Given the description of an element on the screen output the (x, y) to click on. 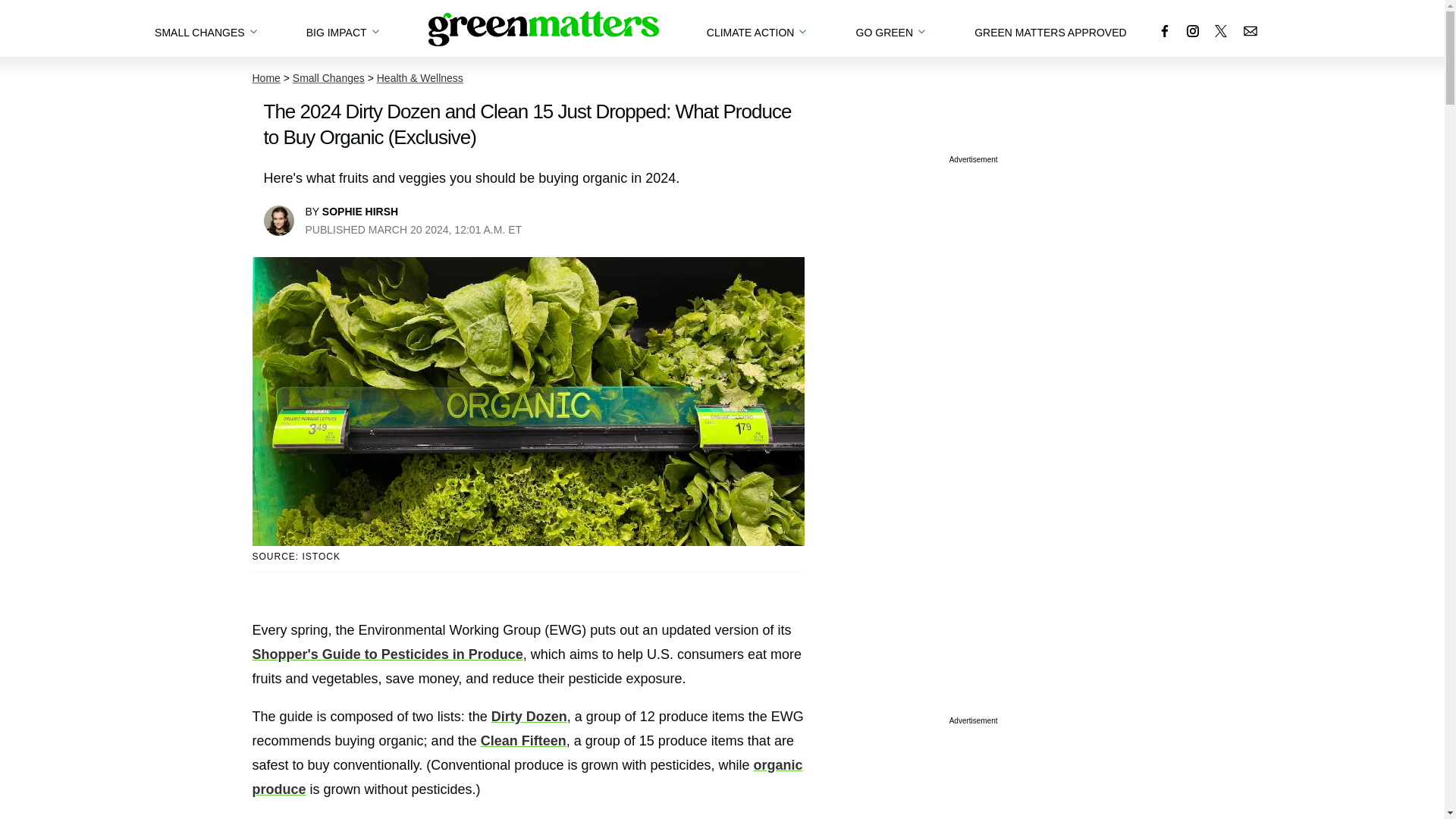
LINK TO X (1220, 30)
GREEN MATTERS APPROVED (1049, 27)
LINK TO INSTAGRAM (1192, 30)
LINK TO FACEBOOK (1164, 30)
LINK TO EMAIL SUBSCRIBE (1250, 30)
